Given the description of an element on the screen output the (x, y) to click on. 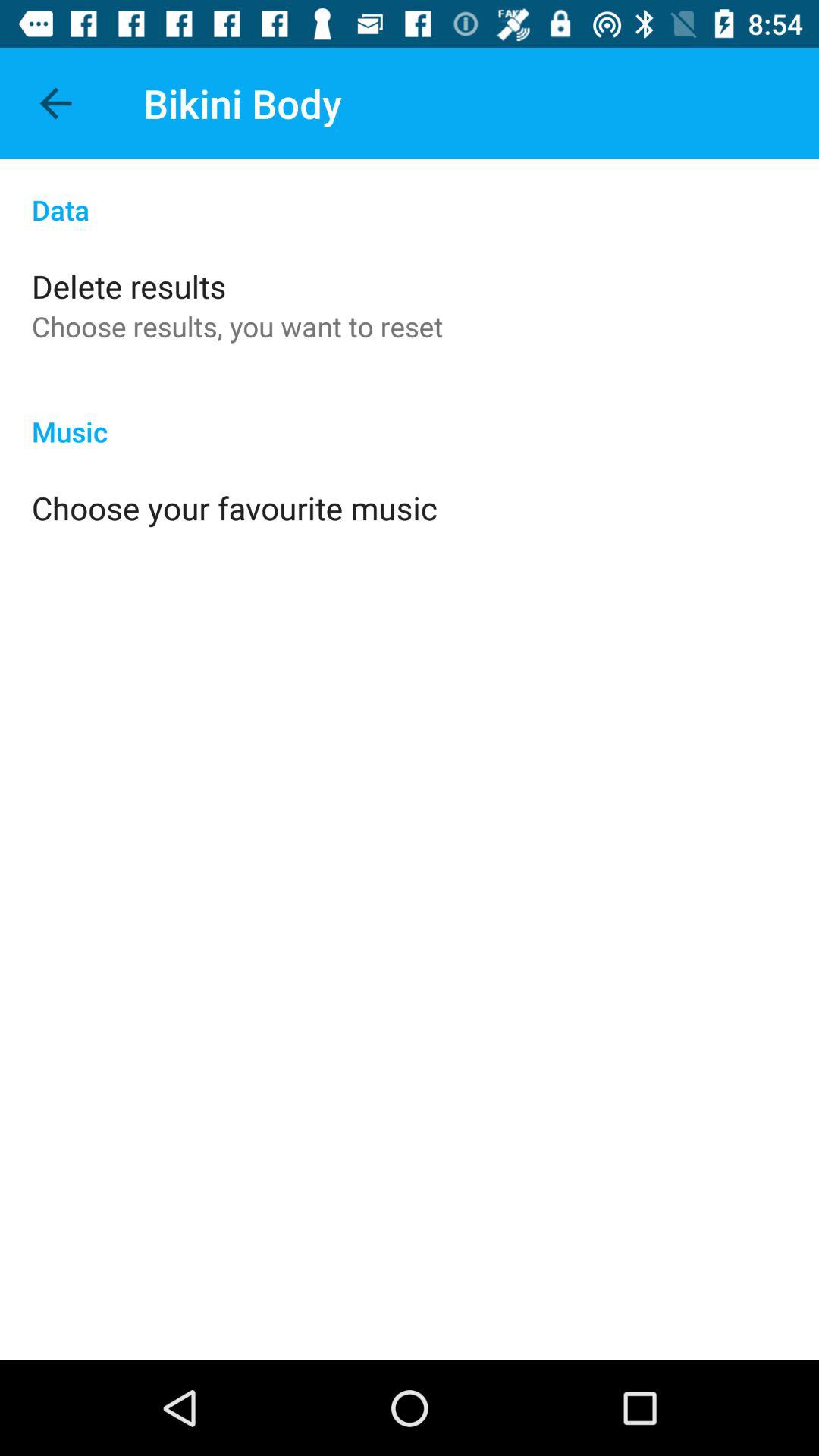
open item below the data app (128, 285)
